Given the description of an element on the screen output the (x, y) to click on. 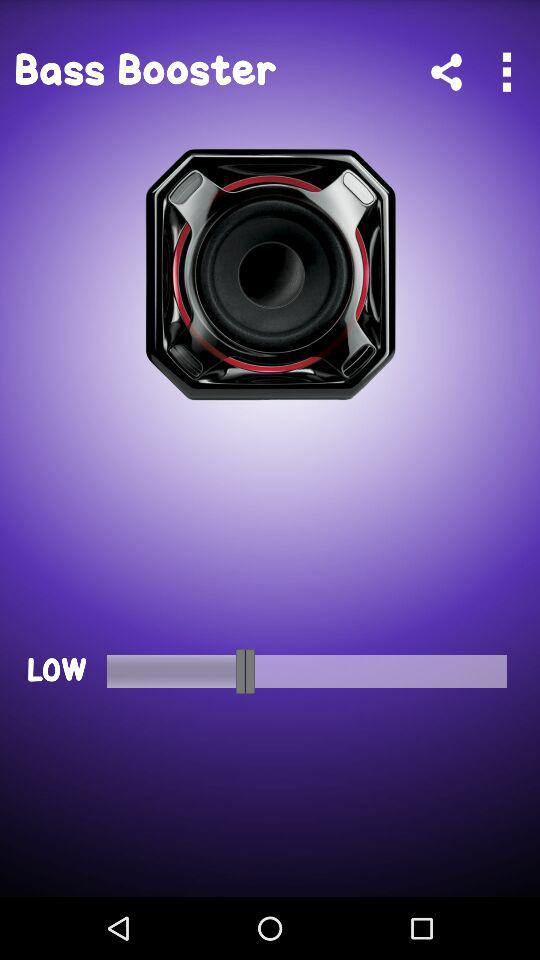
share the item (446, 72)
